Given the description of an element on the screen output the (x, y) to click on. 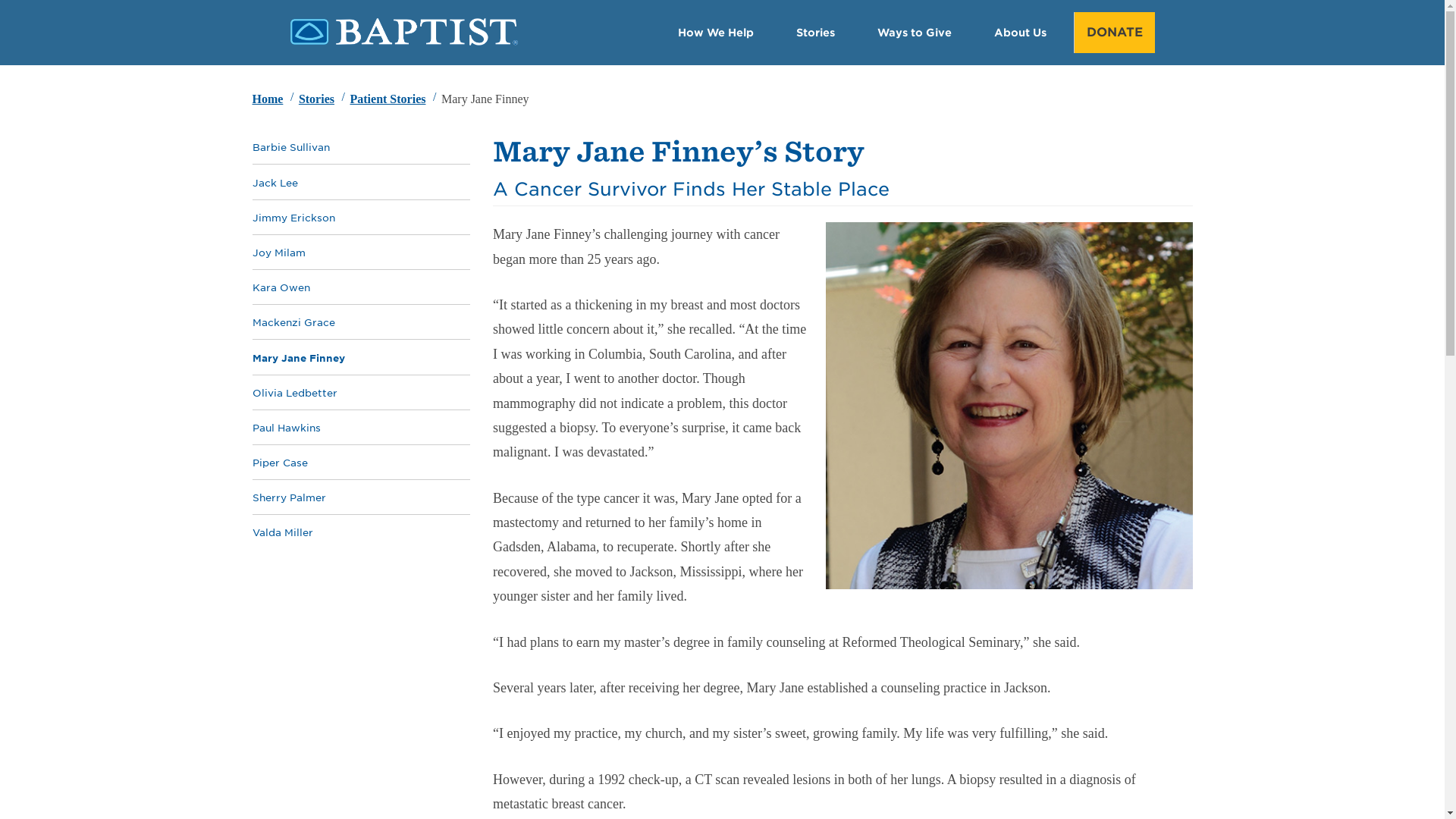
Mackenzi Grace (292, 322)
Ways to Give (913, 31)
Stories (316, 98)
Olivia Ledbetter (293, 393)
Kara Owen (279, 287)
Barbie Sullivan (290, 147)
Stories (316, 98)
Piper Case (279, 462)
Image 1 (402, 41)
Sherry Palmer (287, 497)
